Given the description of an element on the screen output the (x, y) to click on. 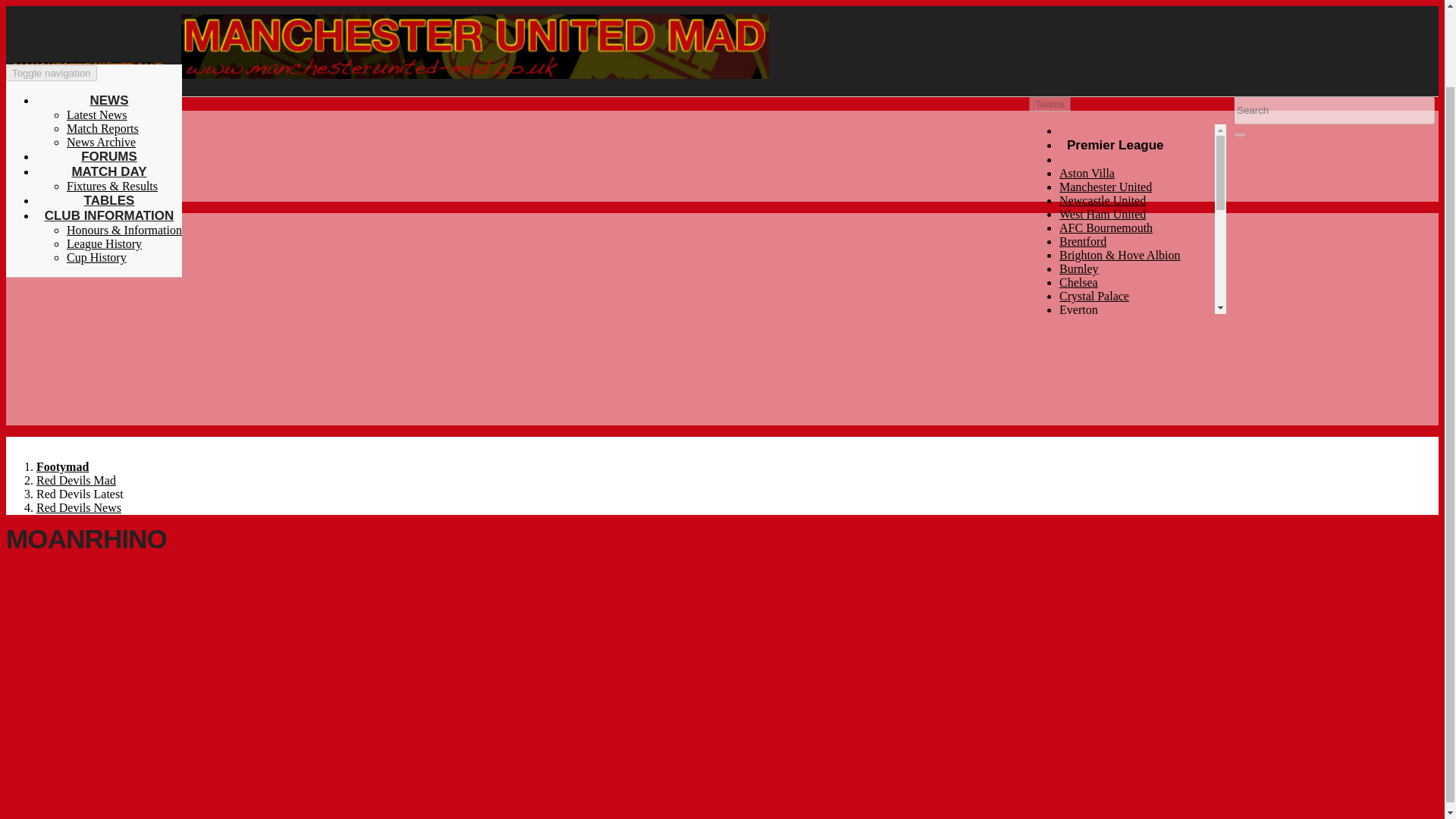
Crystal Palace (1094, 295)
Nottingham Forest (1104, 364)
Sheffield United (1099, 377)
Burnley (1079, 268)
Match Reports (102, 41)
Chelsea (1078, 282)
Tottenham Hotspur (1106, 391)
FORUMS (108, 69)
Latest News (97, 27)
Manchester United (1105, 186)
